Given the description of an element on the screen output the (x, y) to click on. 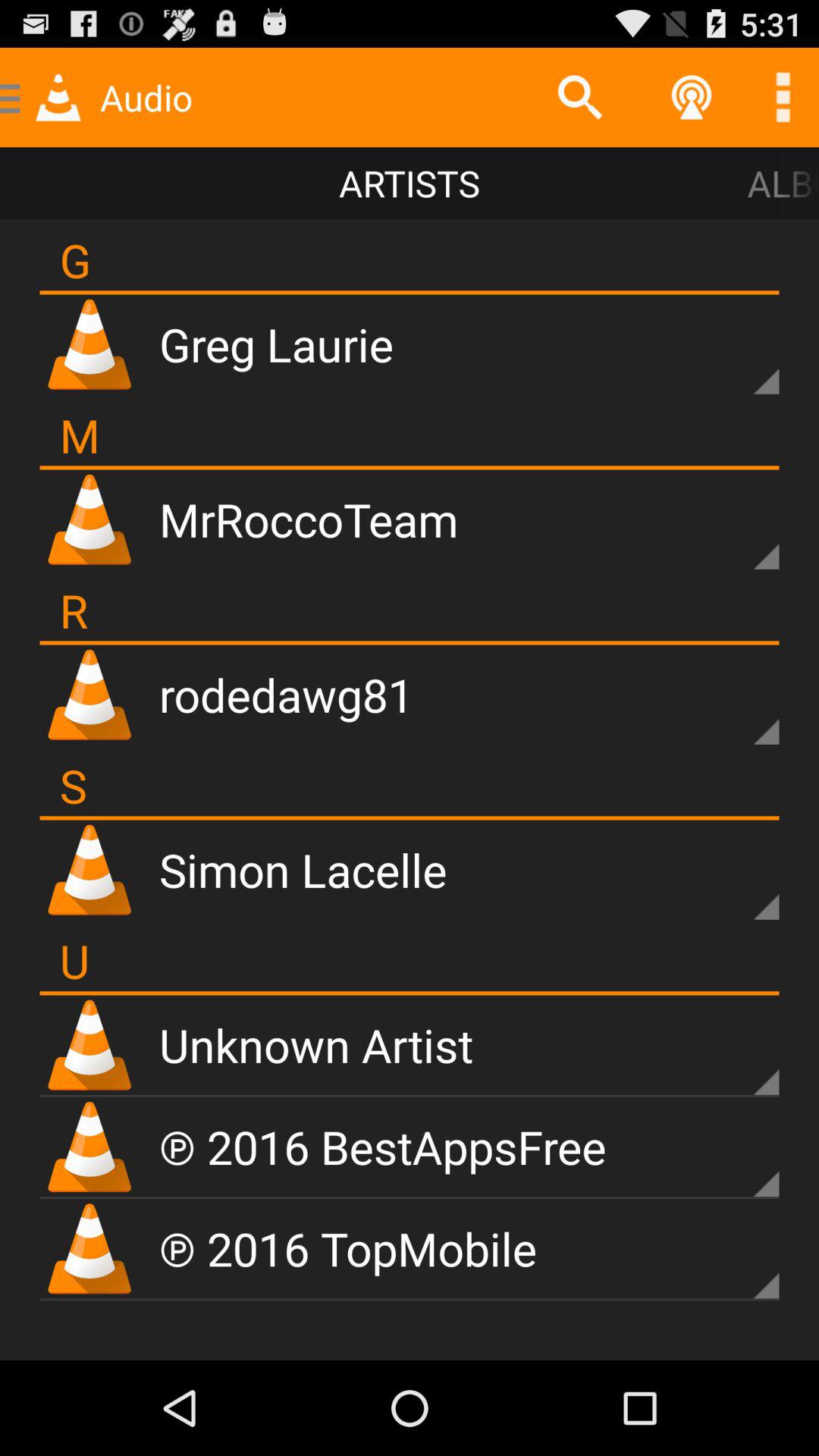
turn off icon below the g icon (409, 292)
